Given the description of an element on the screen output the (x, y) to click on. 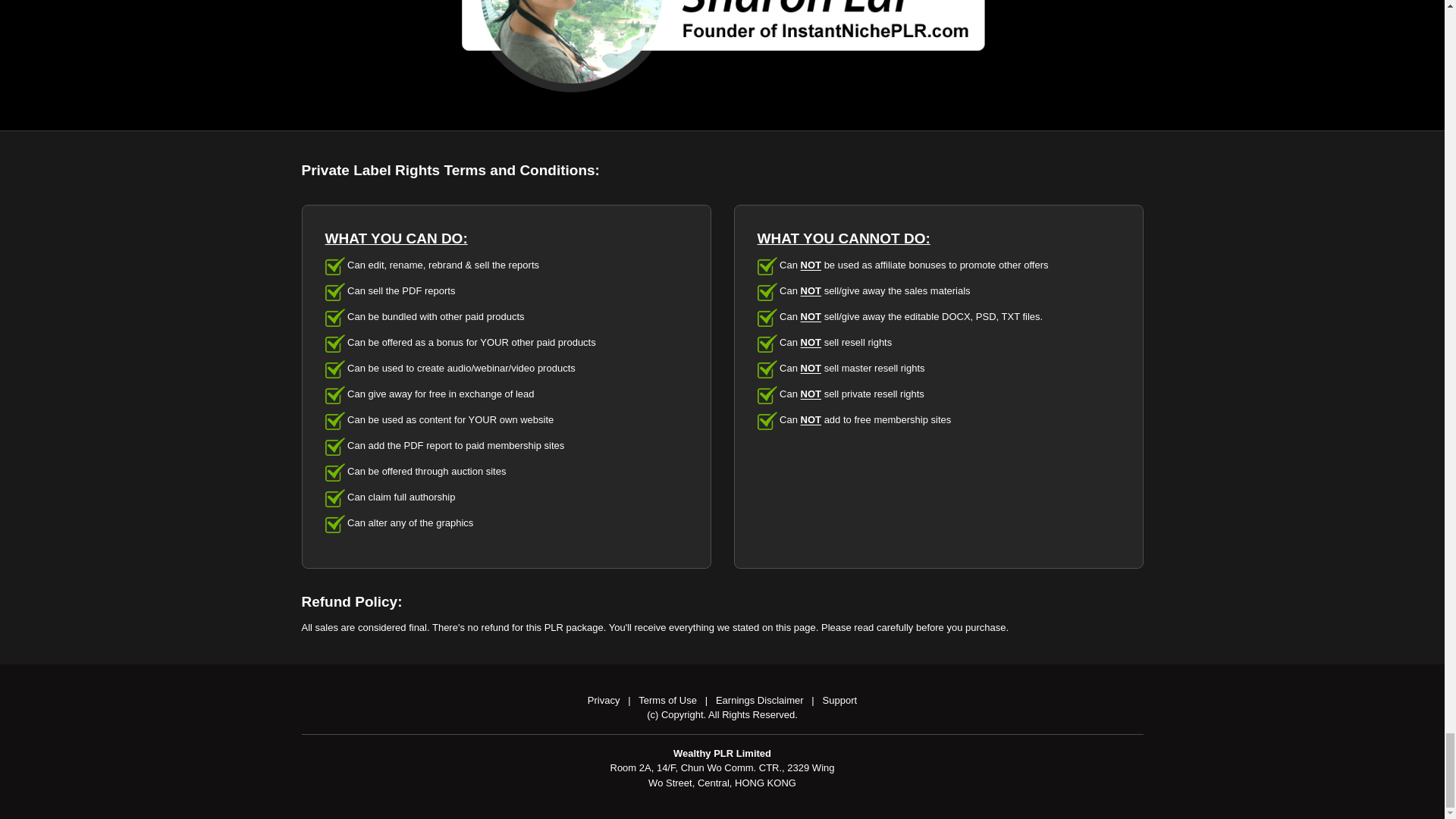
Support (839, 699)
Terms of Use (668, 699)
Privacy (604, 699)
Earnings Disclaimer (759, 699)
